Given the description of an element on the screen output the (x, y) to click on. 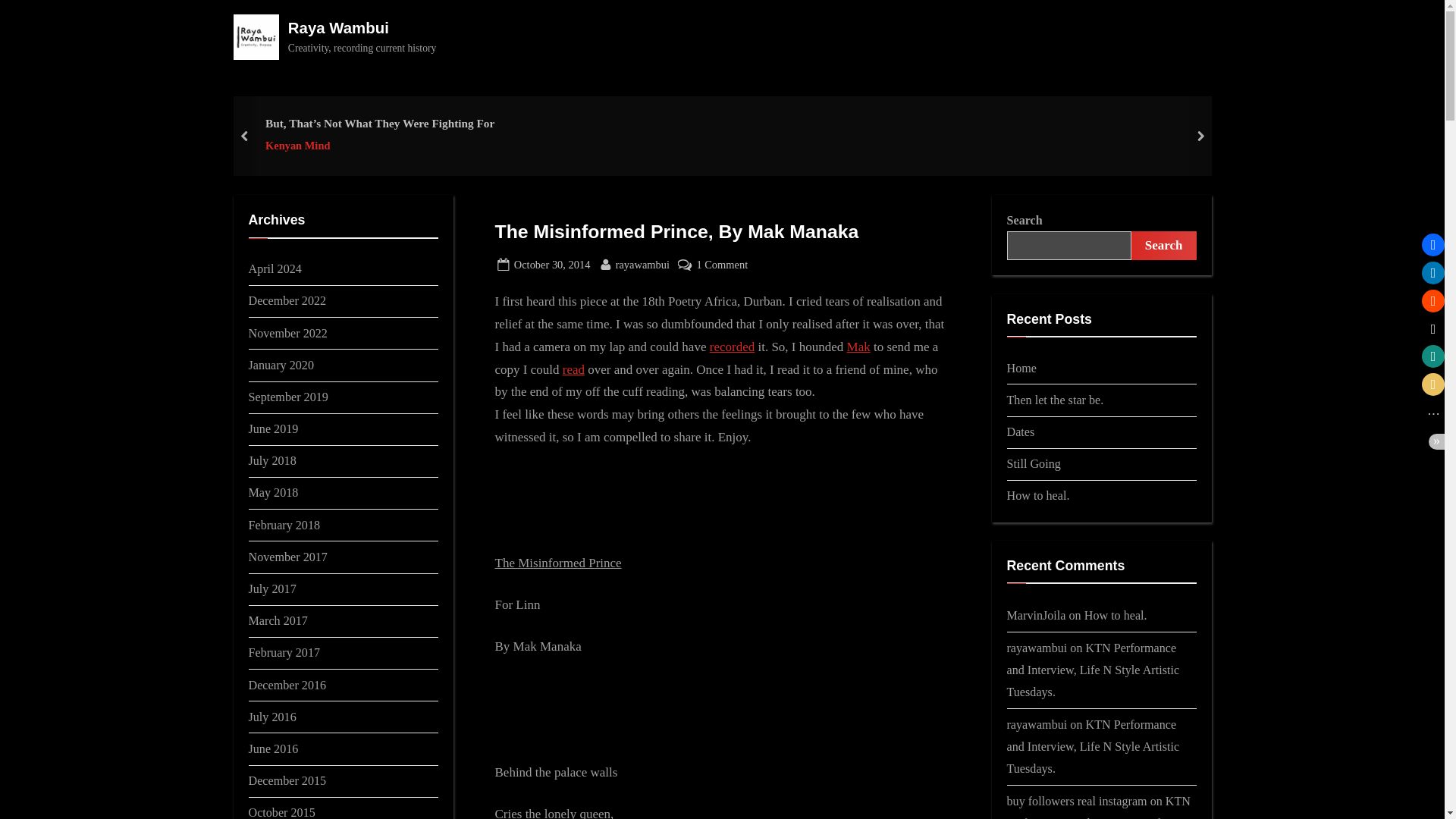
Read Mak Manaka (573, 369)
Raya Wambui (338, 27)
read (721, 264)
Kenyan Mind (573, 369)
Watch Mak Manaka (379, 145)
recorded (732, 346)
Mak Manaka on Facebook (552, 264)
